Given the description of an element on the screen output the (x, y) to click on. 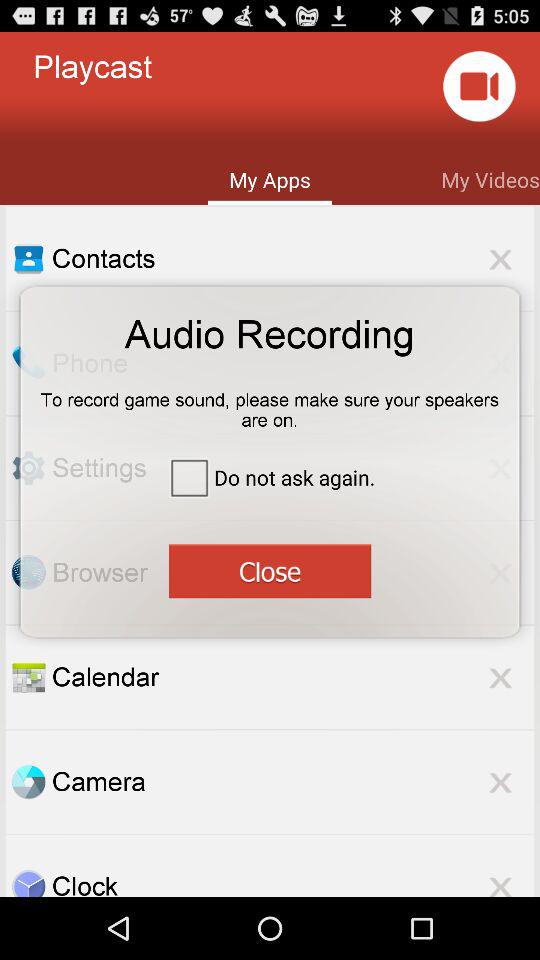
choose to record game item (269, 403)
